Given the description of an element on the screen output the (x, y) to click on. 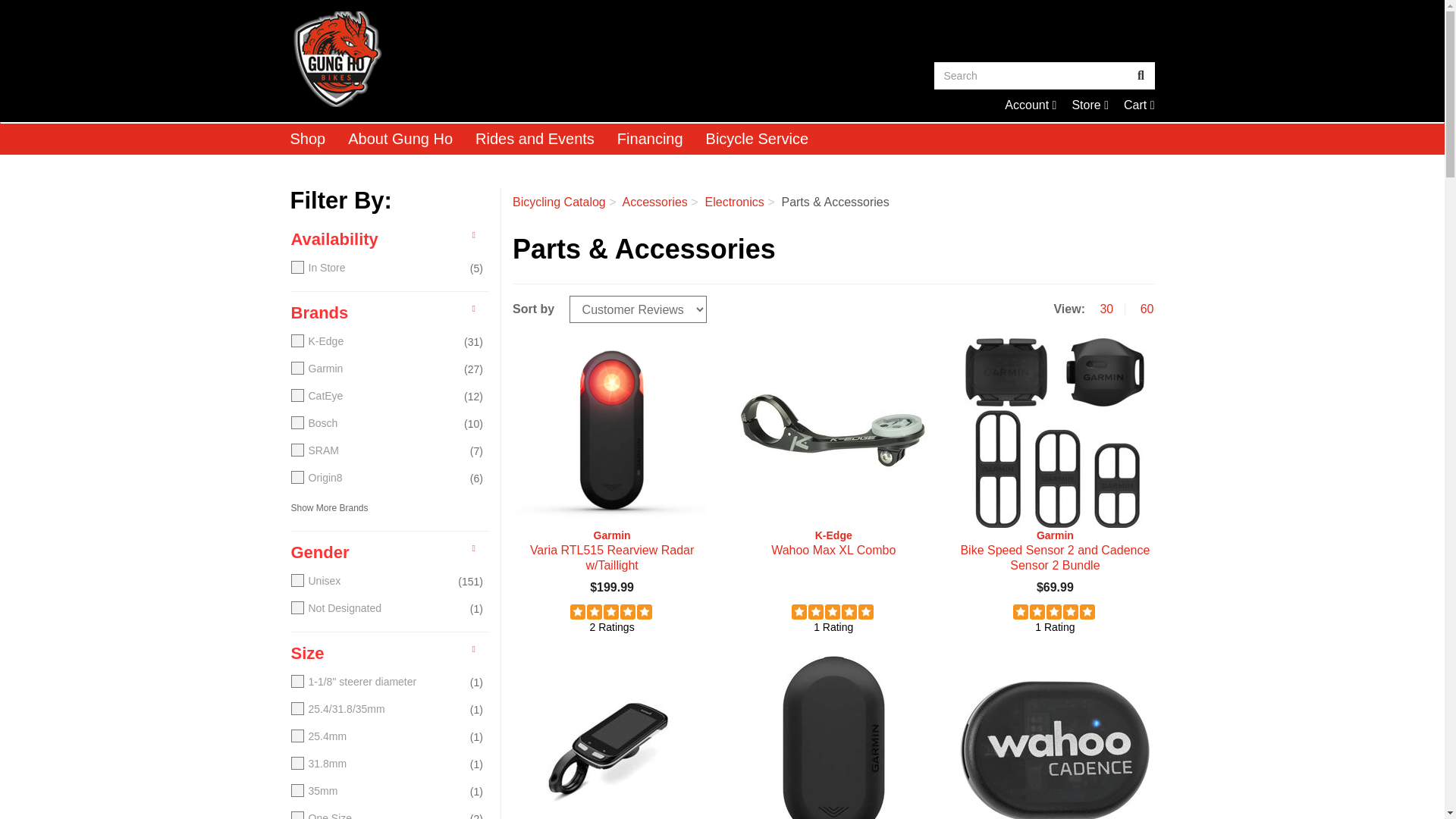
Cart (1139, 104)
Shop (1089, 104)
Gung Ho Bikes Home Page (308, 138)
Account (499, 59)
Search (1030, 104)
Store (1031, 75)
Search (1139, 104)
